Given the description of an element on the screen output the (x, y) to click on. 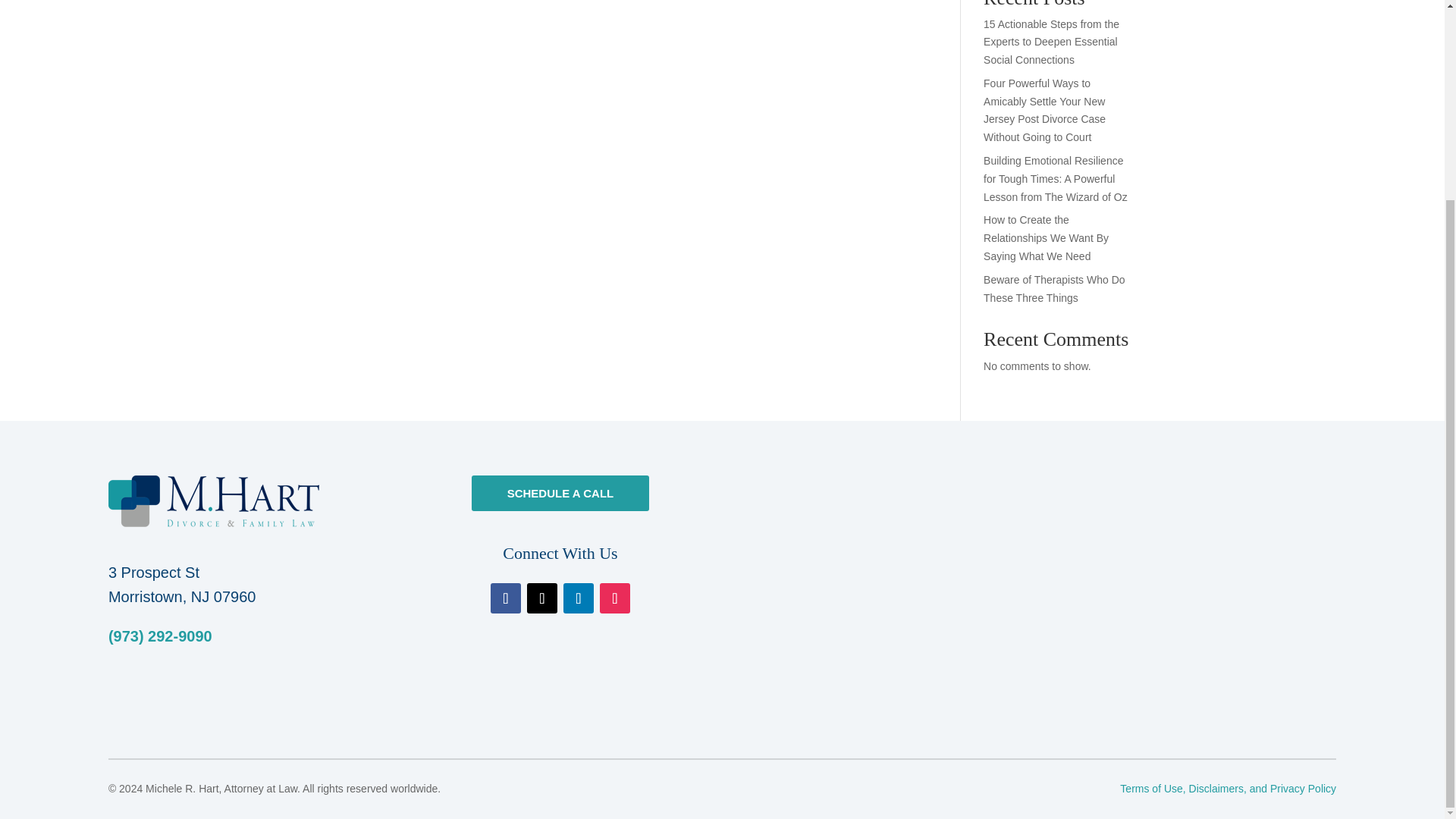
Follow on X (542, 598)
Follow on Facebook (505, 598)
m-hart-logo (212, 501)
Follow on Instagram (614, 598)
Follow on LinkedIn (578, 598)
